Given the description of an element on the screen output the (x, y) to click on. 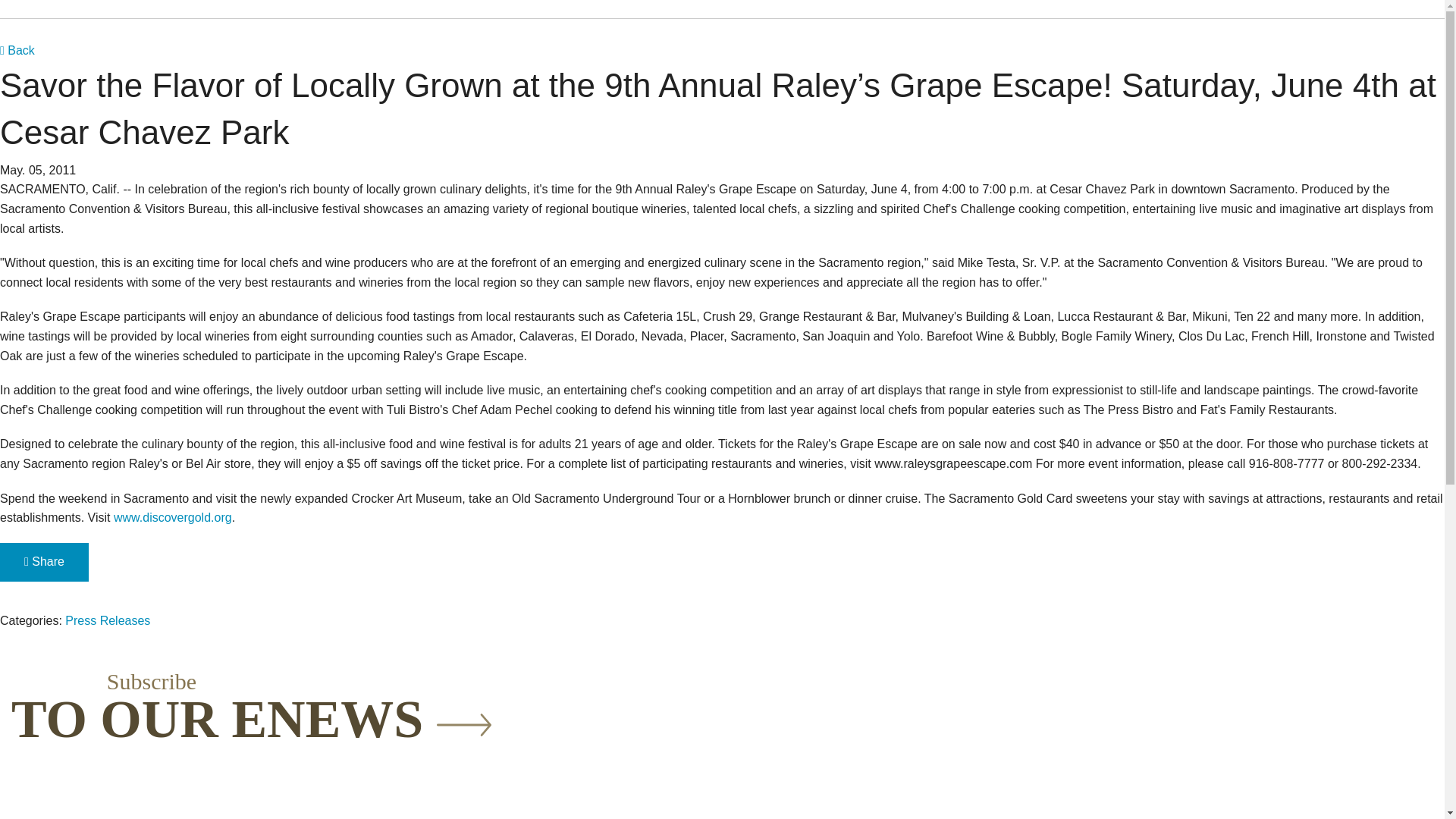
www.discovergold.org (172, 517)
Back (17, 50)
Press Releases (107, 620)
Share (44, 561)
